Given the description of an element on the screen output the (x, y) to click on. 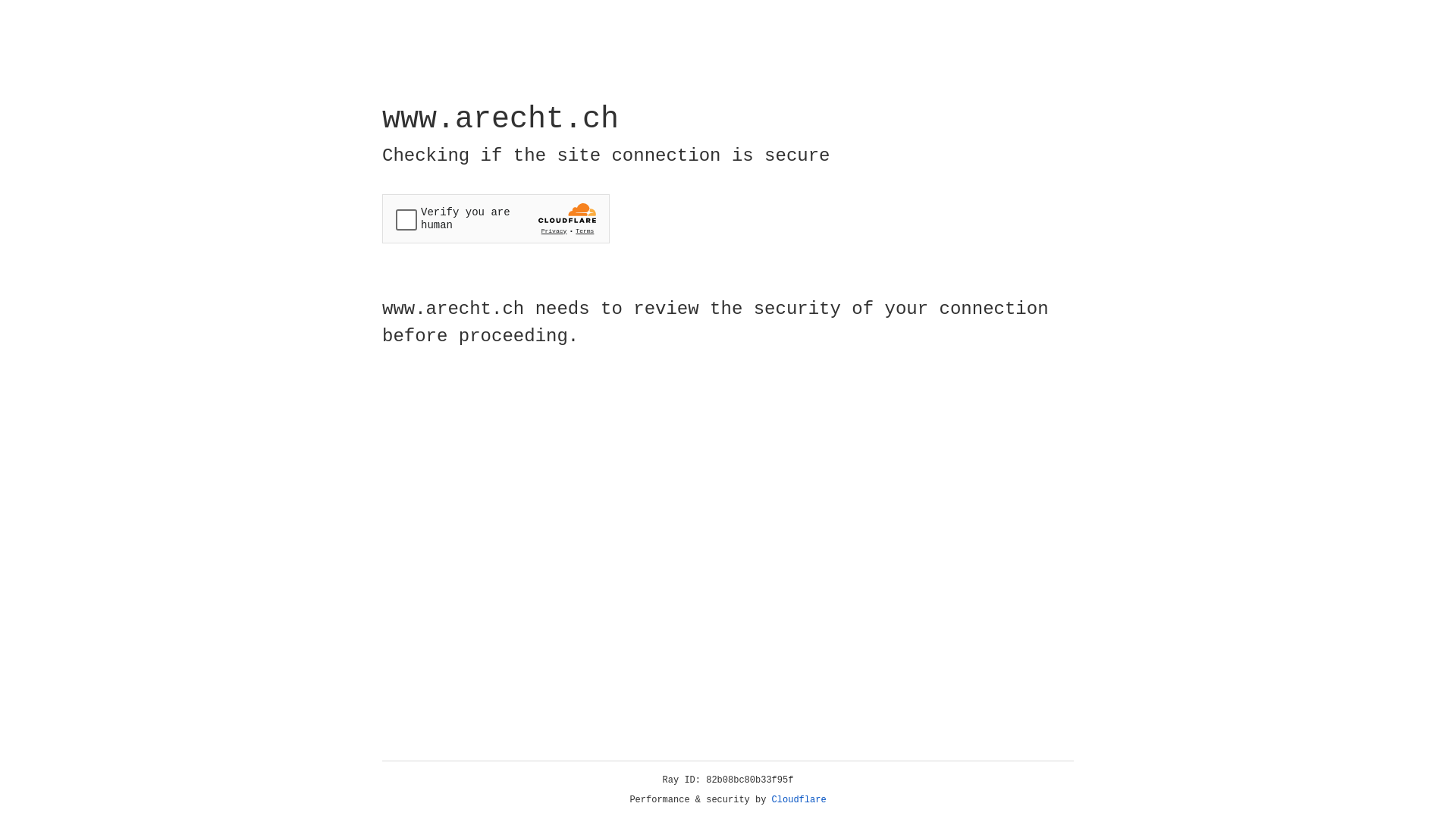
Widget containing a Cloudflare security challenge Element type: hover (495, 218)
Cloudflare Element type: text (798, 799)
